Given the description of an element on the screen output the (x, y) to click on. 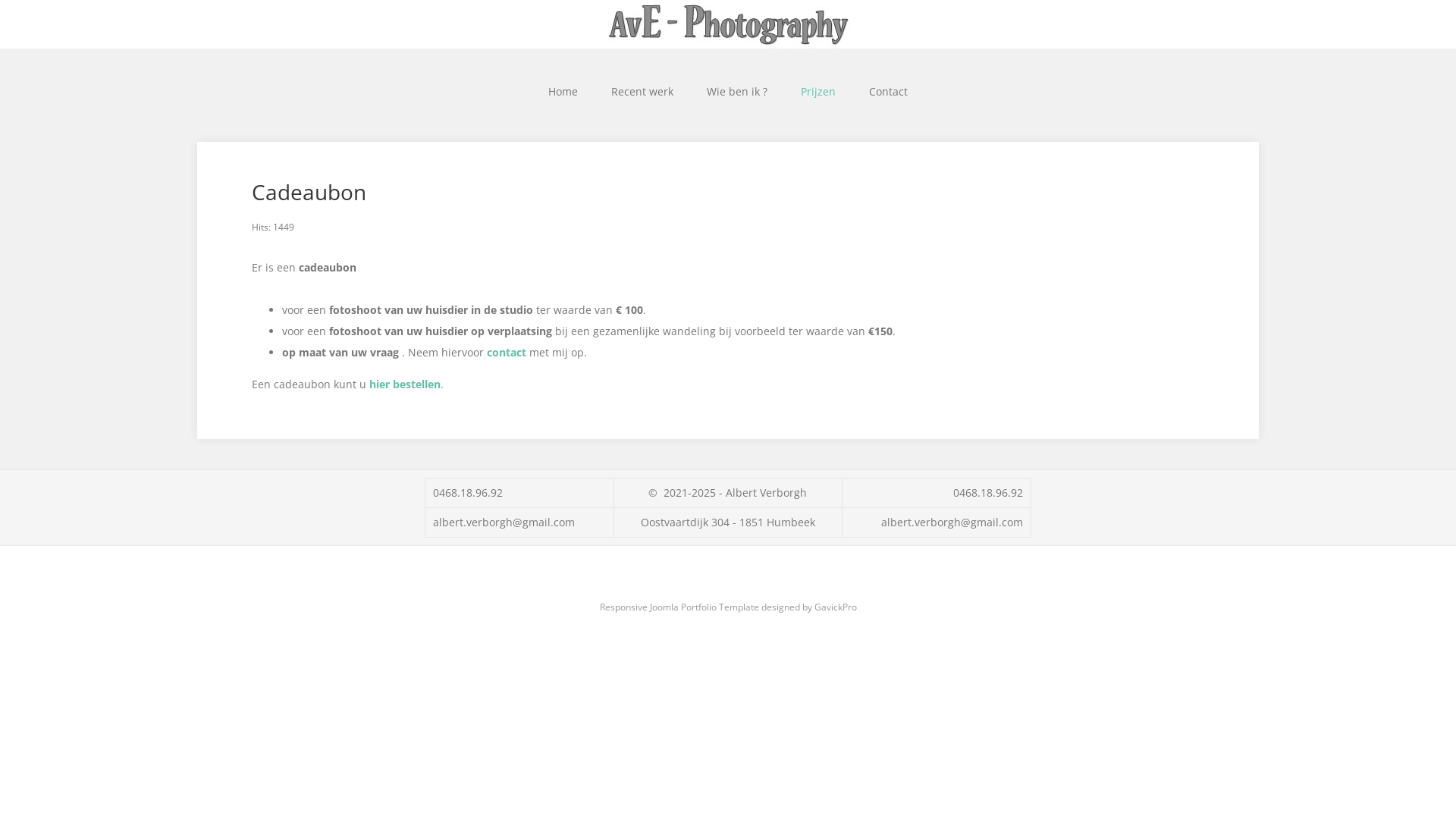
Home Element type: text (562, 90)
Contact Element type: text (888, 90)
contact Element type: text (507, 352)
Wie ben ik ? Element type: text (736, 90)
hier bestellen Element type: text (404, 383)
